Given the description of an element on the screen output the (x, y) to click on. 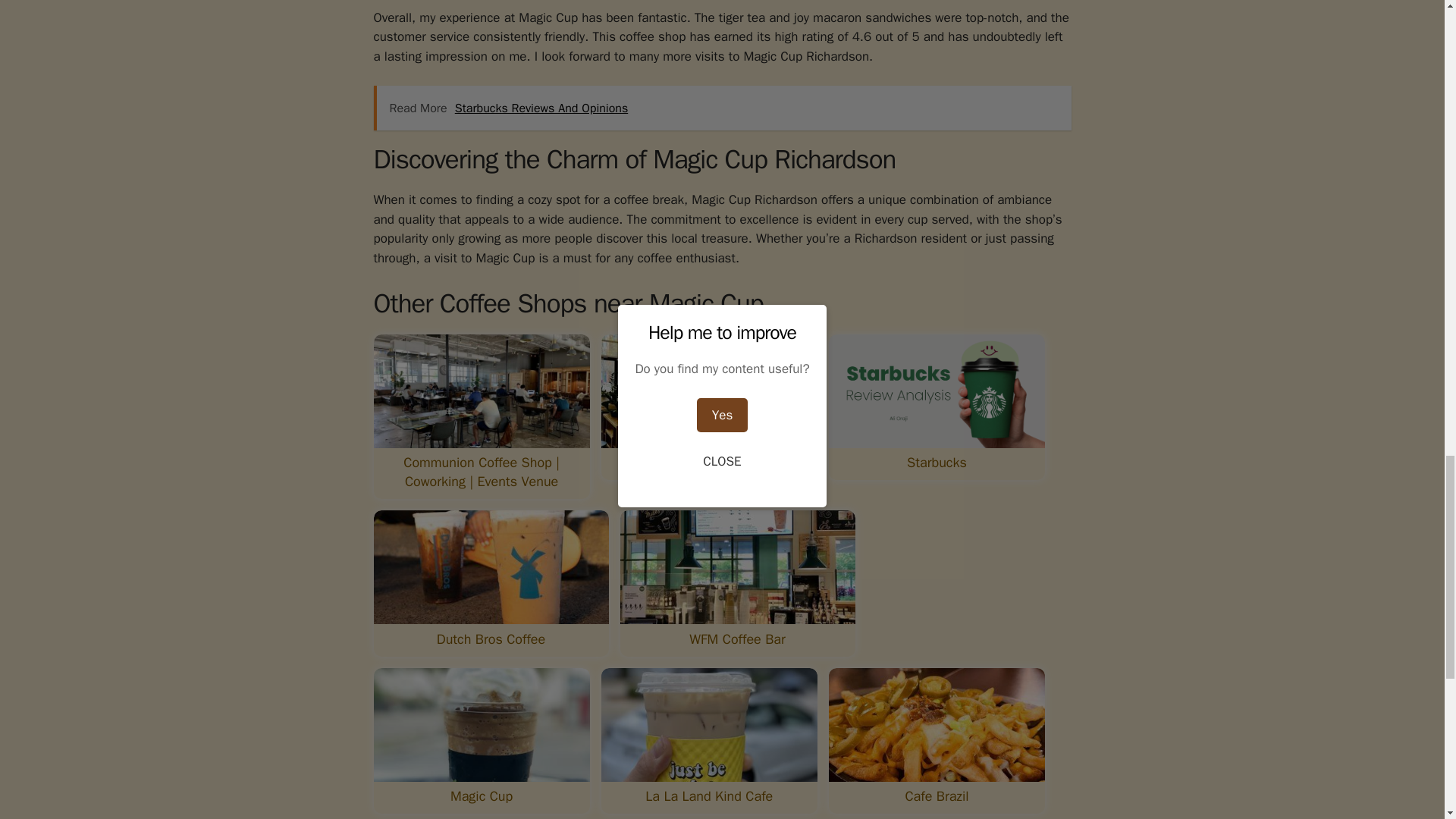
Magic Cup Reviews And Opinions 2 (708, 390)
Magic Cup Reviews And Opinions 1 (480, 390)
